Given the description of an element on the screen output the (x, y) to click on. 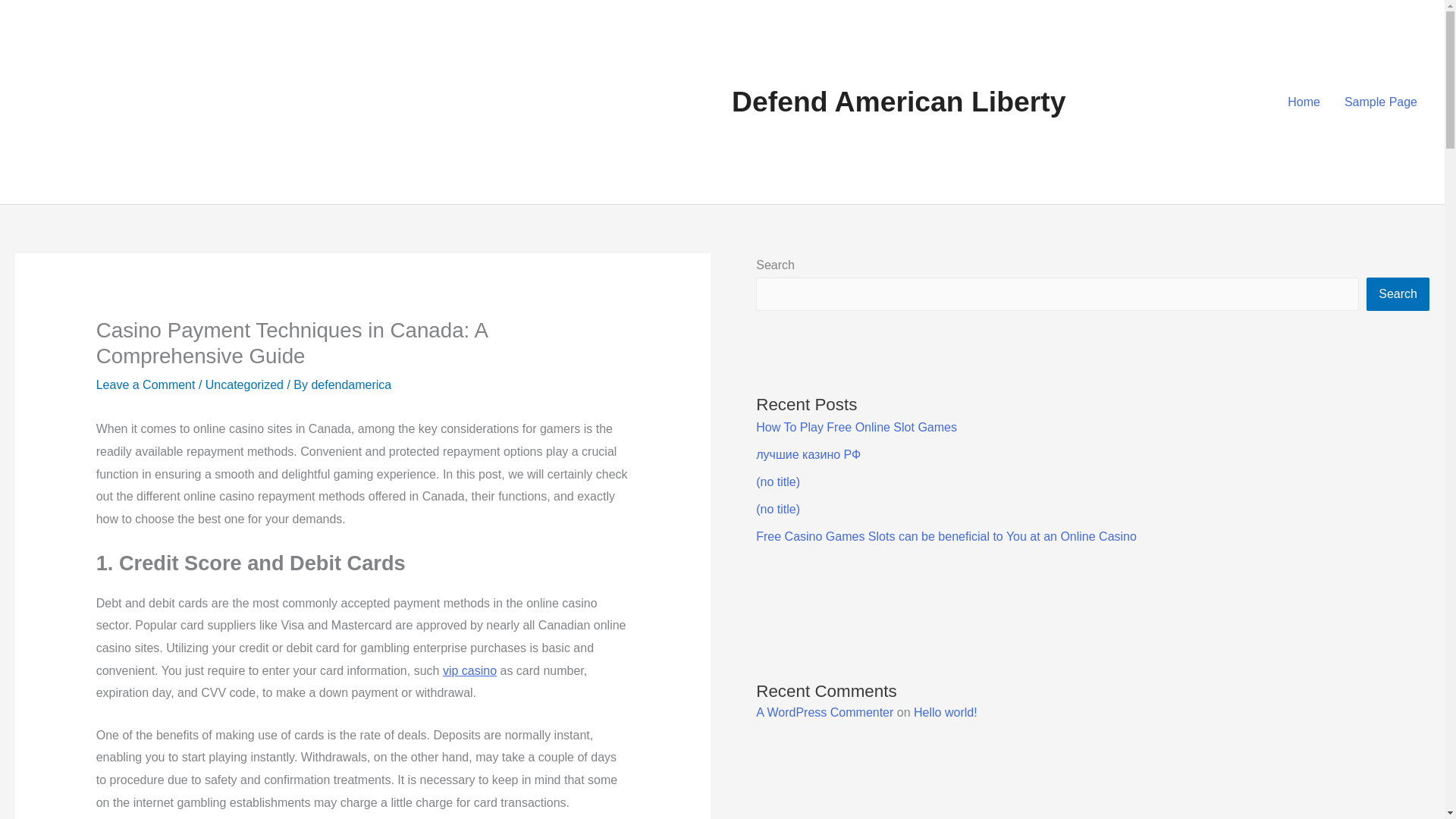
Hello world! (945, 712)
How To Play Free Online Slot Games (855, 427)
Home (1303, 102)
Sample Page (1380, 102)
Defend American Liberty (898, 101)
vip casino (469, 670)
defendamerica (351, 384)
Search (1398, 294)
Uncategorized (244, 384)
